Given the description of an element on the screen output the (x, y) to click on. 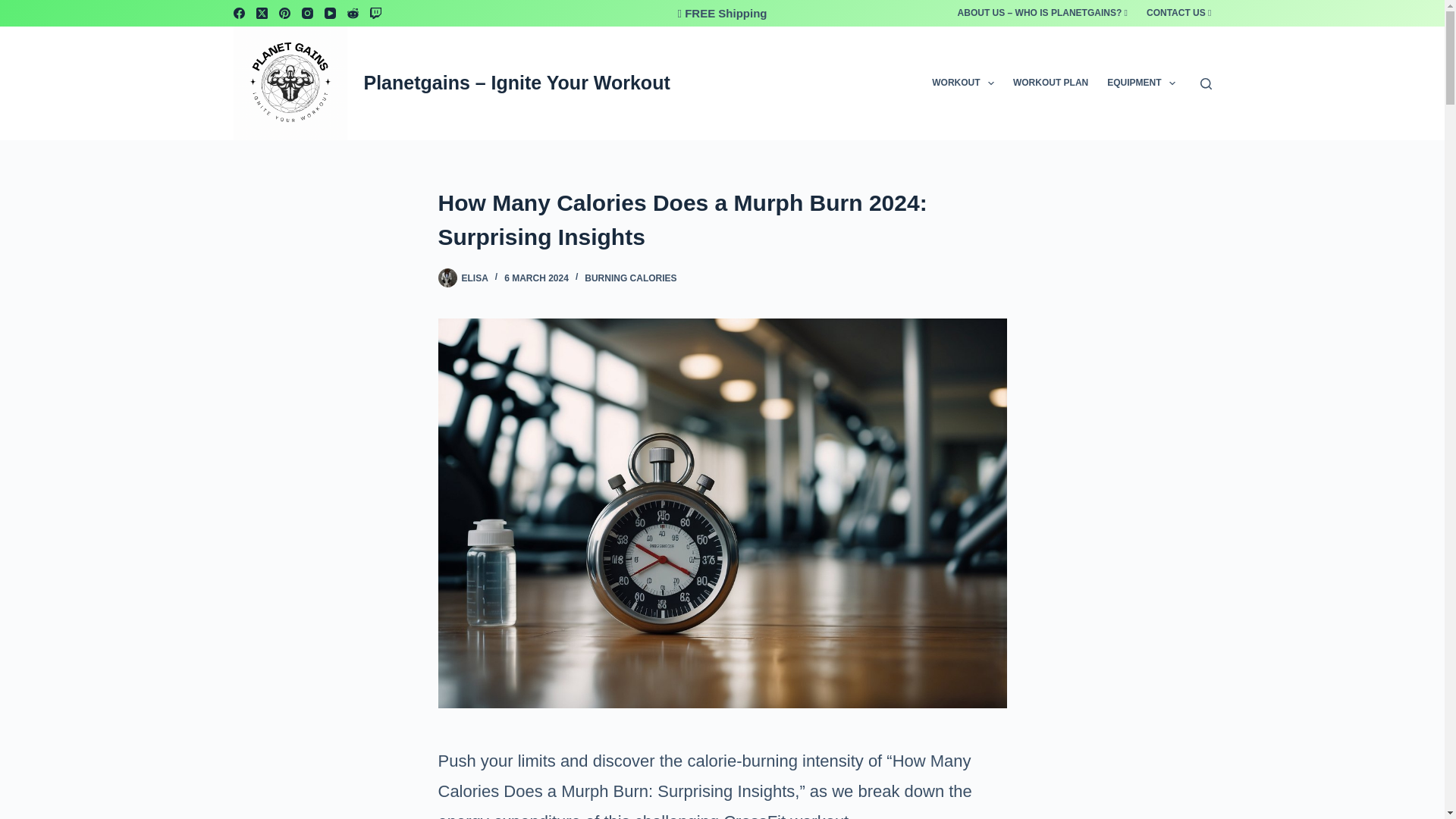
Posts by Elisa (474, 277)
Skip to content (15, 7)
